Given the description of an element on the screen output the (x, y) to click on. 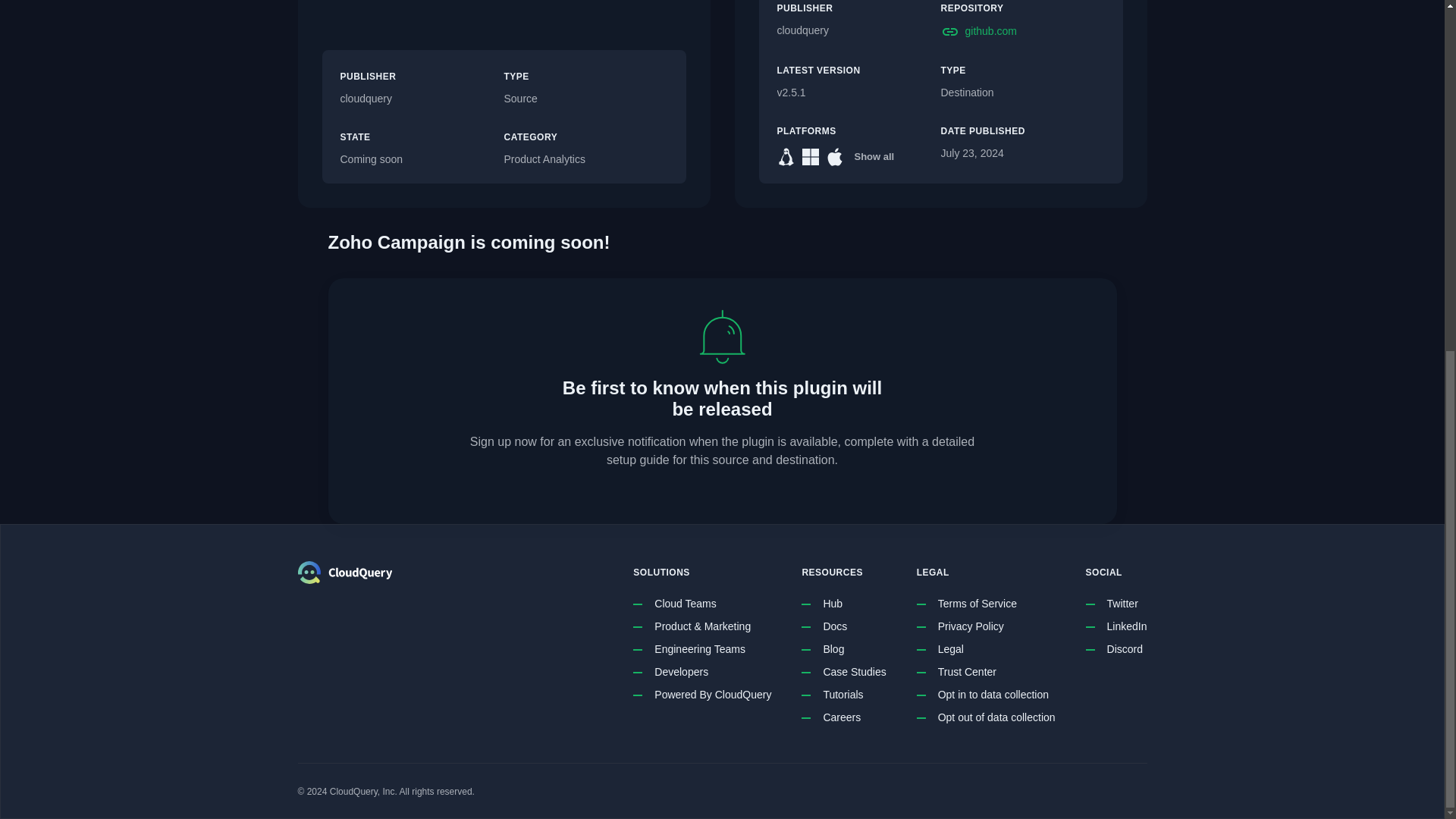
Engineering Teams (699, 649)
Privacy Policy (970, 627)
Coming soon (421, 159)
Cloud Teams (684, 604)
github.com (1021, 31)
cloudquery (858, 30)
All supported platforms (873, 156)
Developers (680, 672)
cloudquery (421, 98)
Discord (1124, 649)
Twitter (1122, 604)
Docs (834, 627)
Careers (841, 718)
Case Studies (853, 672)
v2.5.1 (858, 93)
